Given the description of an element on the screen output the (x, y) to click on. 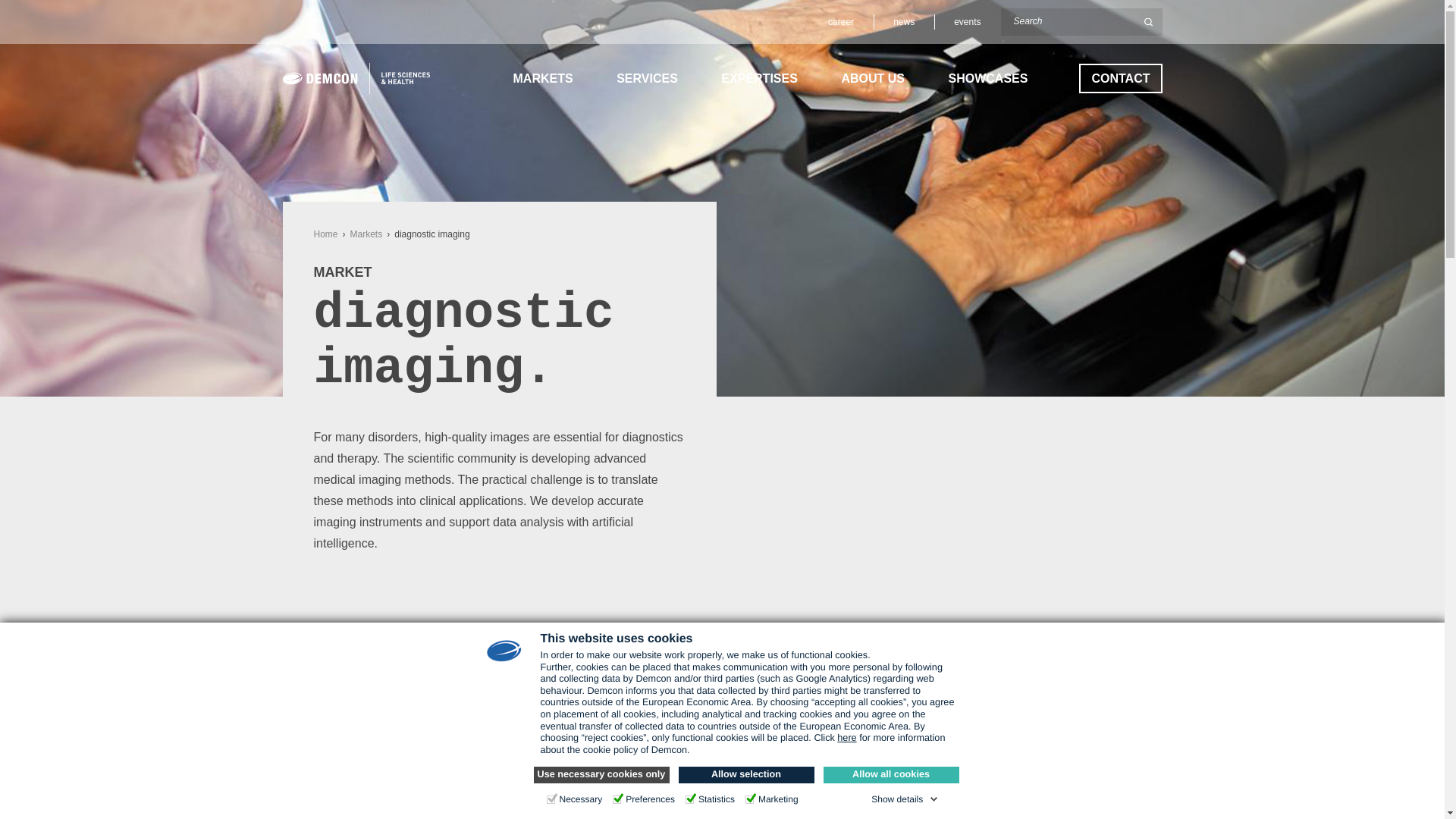
Allow all cookies (891, 774)
Use necessary cookies only (601, 774)
here (846, 737)
Show details (903, 799)
Allow selection (745, 774)
